Given the description of an element on the screen output the (x, y) to click on. 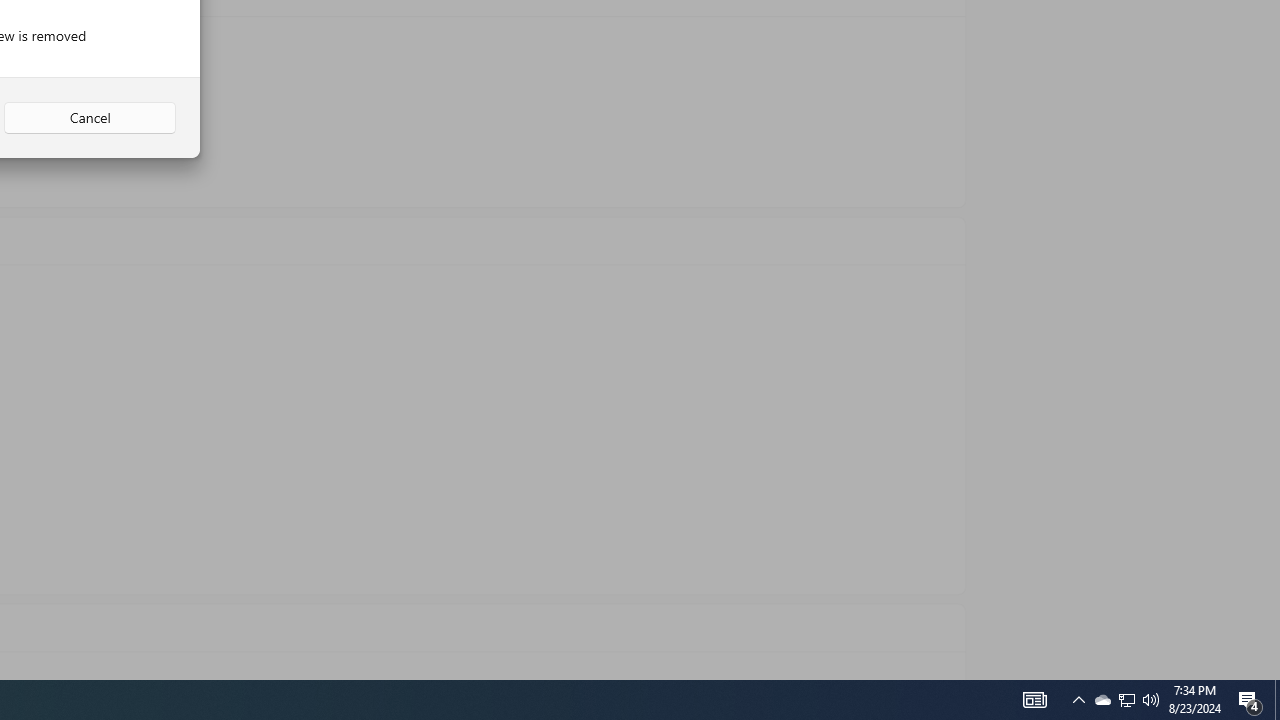
Cancel (89, 117)
